Given the description of an element on the screen output the (x, y) to click on. 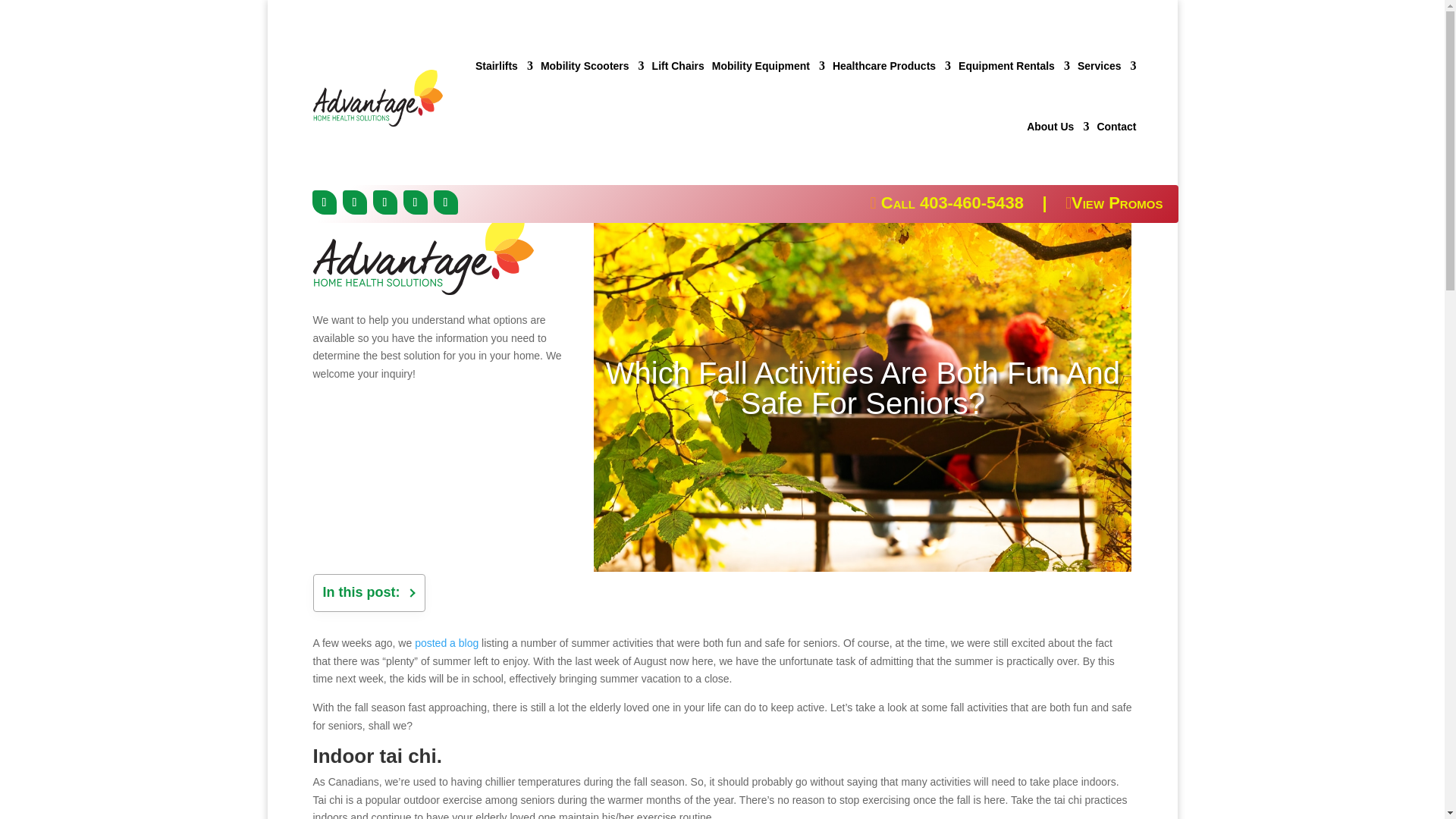
Follow on X (354, 202)
Healthcare Products (891, 65)
Follow on Facebook (324, 202)
Follow on Youtube (445, 202)
Stairlifts (504, 65)
Mobility Equipment (768, 65)
Follow on Google (415, 202)
Lift Chairs (678, 65)
Mobility Scooters (592, 65)
Follow on LinkedIn (384, 202)
